Given the description of an element on the screen output the (x, y) to click on. 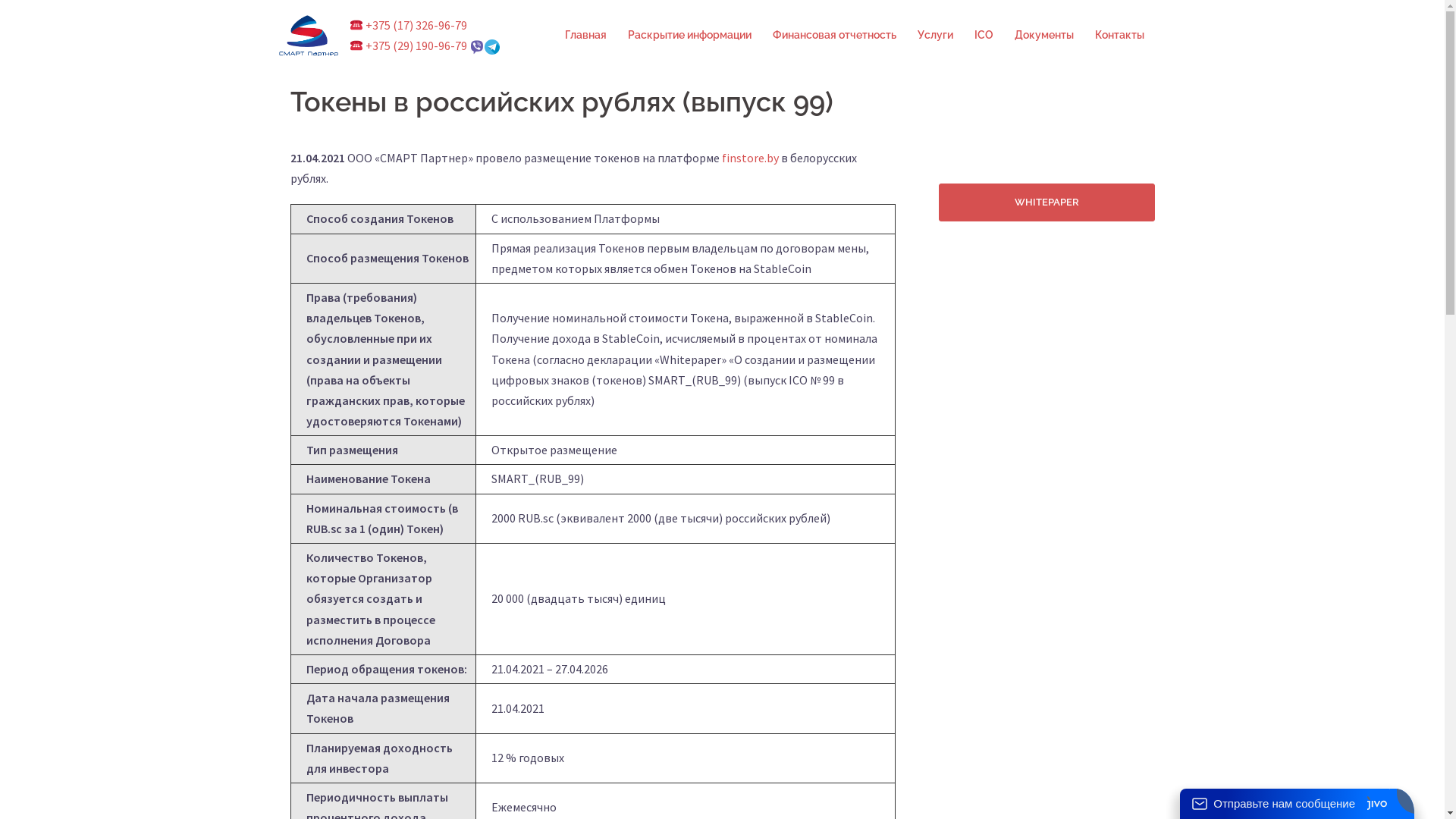
ICO Element type: text (982, 35)
+375 (29) 190-96-79 Element type: text (407, 45)
WHITEPAPER Element type: text (1046, 200)
+375 (17) 326-96-79 Element type: text (407, 24)
finstore.by Element type: text (749, 157)
Skip to content Element type: text (0, 0)
